Given the description of an element on the screen output the (x, y) to click on. 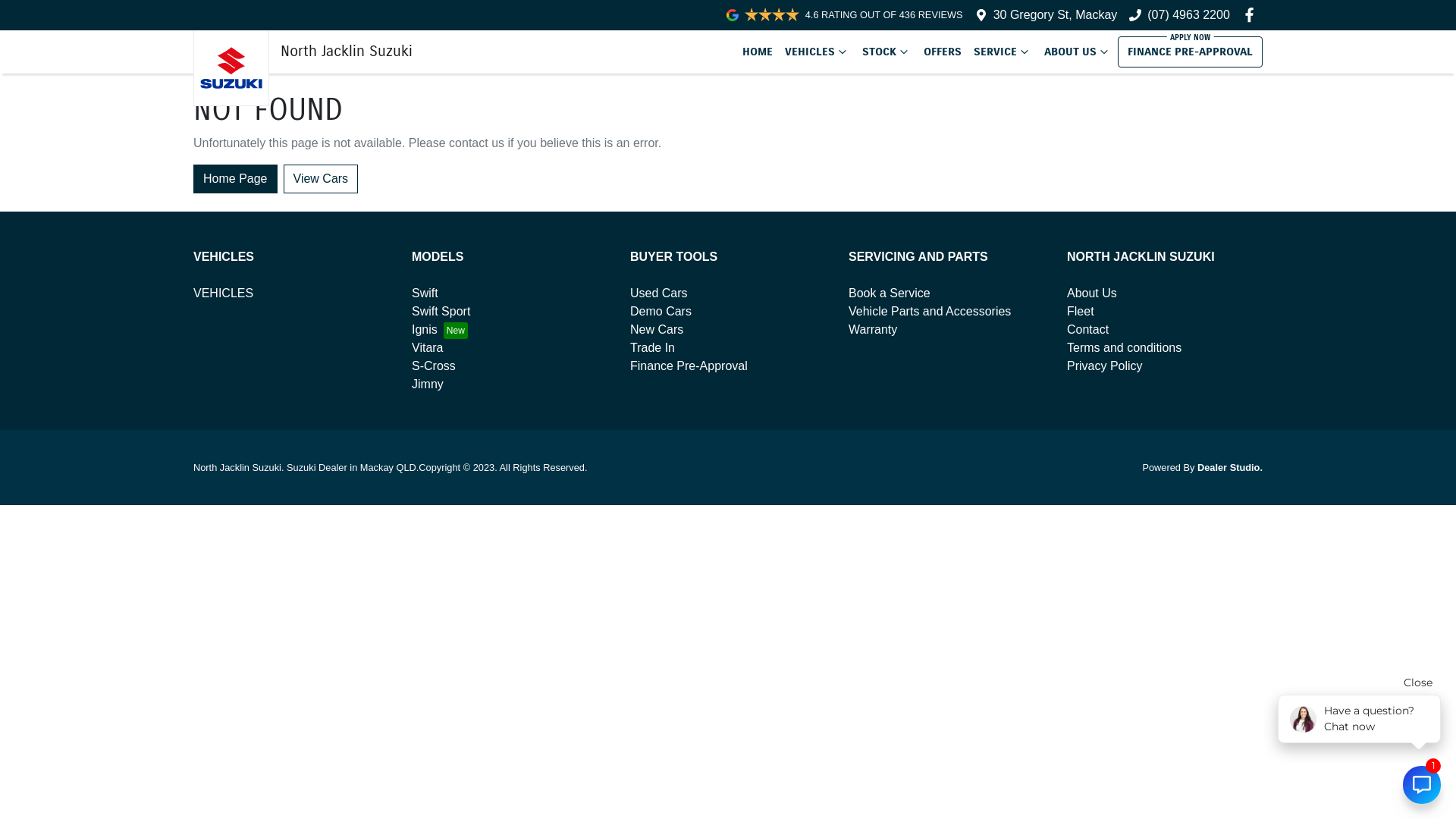
Terms and conditions Element type: text (1123, 347)
VEHICLES Element type: text (817, 51)
Finance Pre-Approval Element type: text (688, 365)
OFFERS Element type: text (942, 51)
Swift Sport Element type: text (440, 310)
ABOUT US Element type: text (1077, 51)
Fleet Element type: text (1080, 310)
Demo Cars Element type: text (660, 310)
HOME Element type: text (757, 51)
STOCK Element type: text (886, 51)
VEHICLES Element type: text (223, 292)
About Us Element type: text (1091, 292)
Jimny Element type: text (427, 383)
Vehicle Parts and Accessories Element type: text (929, 310)
SERVICE Element type: text (1002, 51)
Dealer Studio. Element type: text (1229, 466)
Swift Element type: text (424, 292)
Warranty Element type: text (872, 329)
View Cars Element type: text (320, 177)
Privacy Policy Element type: text (1104, 365)
Used Cars Element type: text (658, 292)
S-Cross Element type: text (433, 365)
Vitara Element type: text (427, 347)
Trade In Element type: text (652, 347)
(07) 4963 2200 Element type: text (1188, 14)
30 Gregory St, Mackay Element type: text (1055, 14)
FINANCE PRE-APPROVAL Element type: text (1189, 51)
Contact Element type: text (1087, 329)
Home Page Element type: text (235, 177)
Book a Service Element type: text (889, 292)
North Jacklin Suzuki Element type: text (302, 51)
Ignis Element type: text (439, 329)
New Cars Element type: text (656, 329)
